Given the description of an element on the screen output the (x, y) to click on. 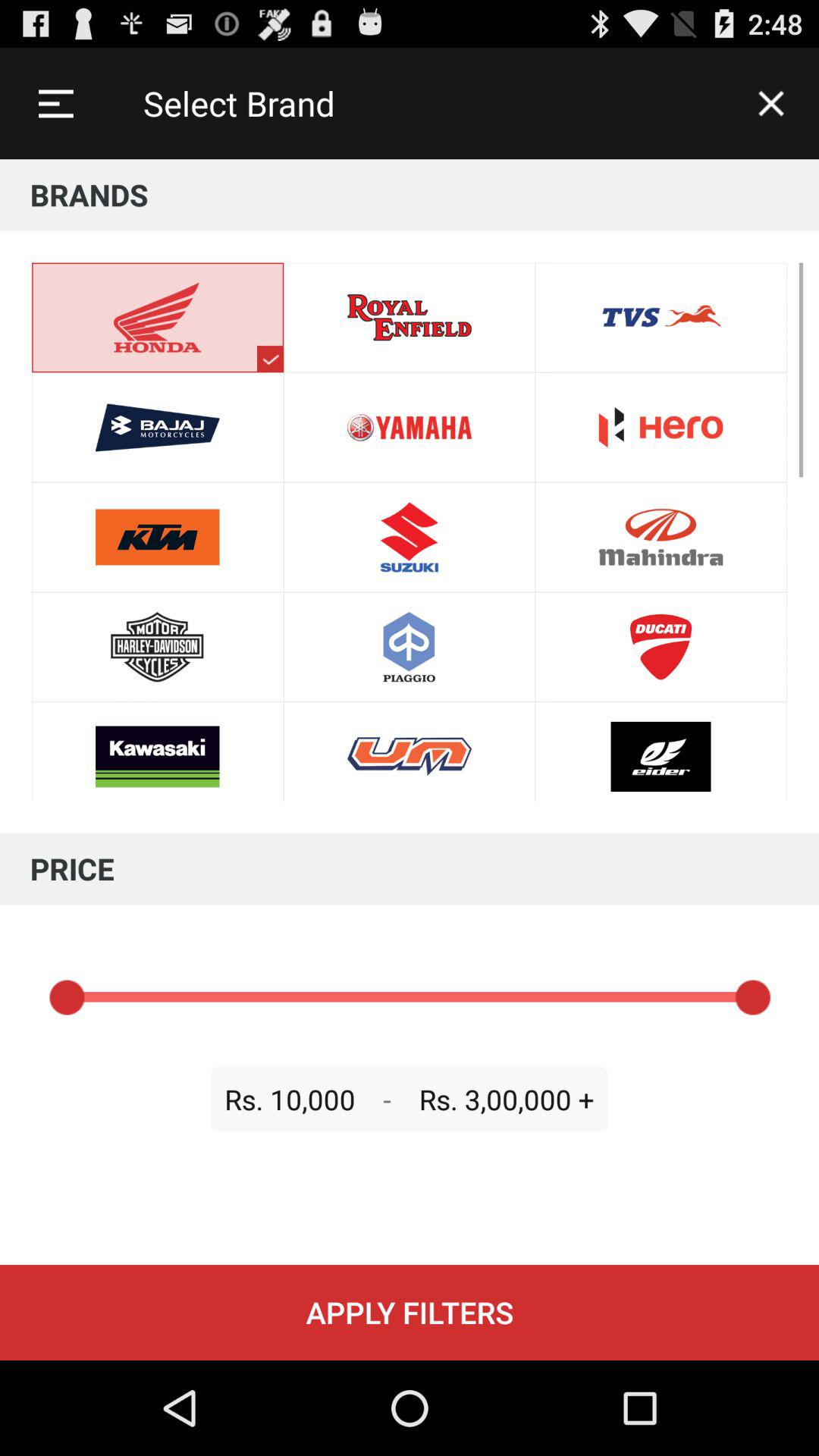
launch icon above the brands item (55, 103)
